Given the description of an element on the screen output the (x, y) to click on. 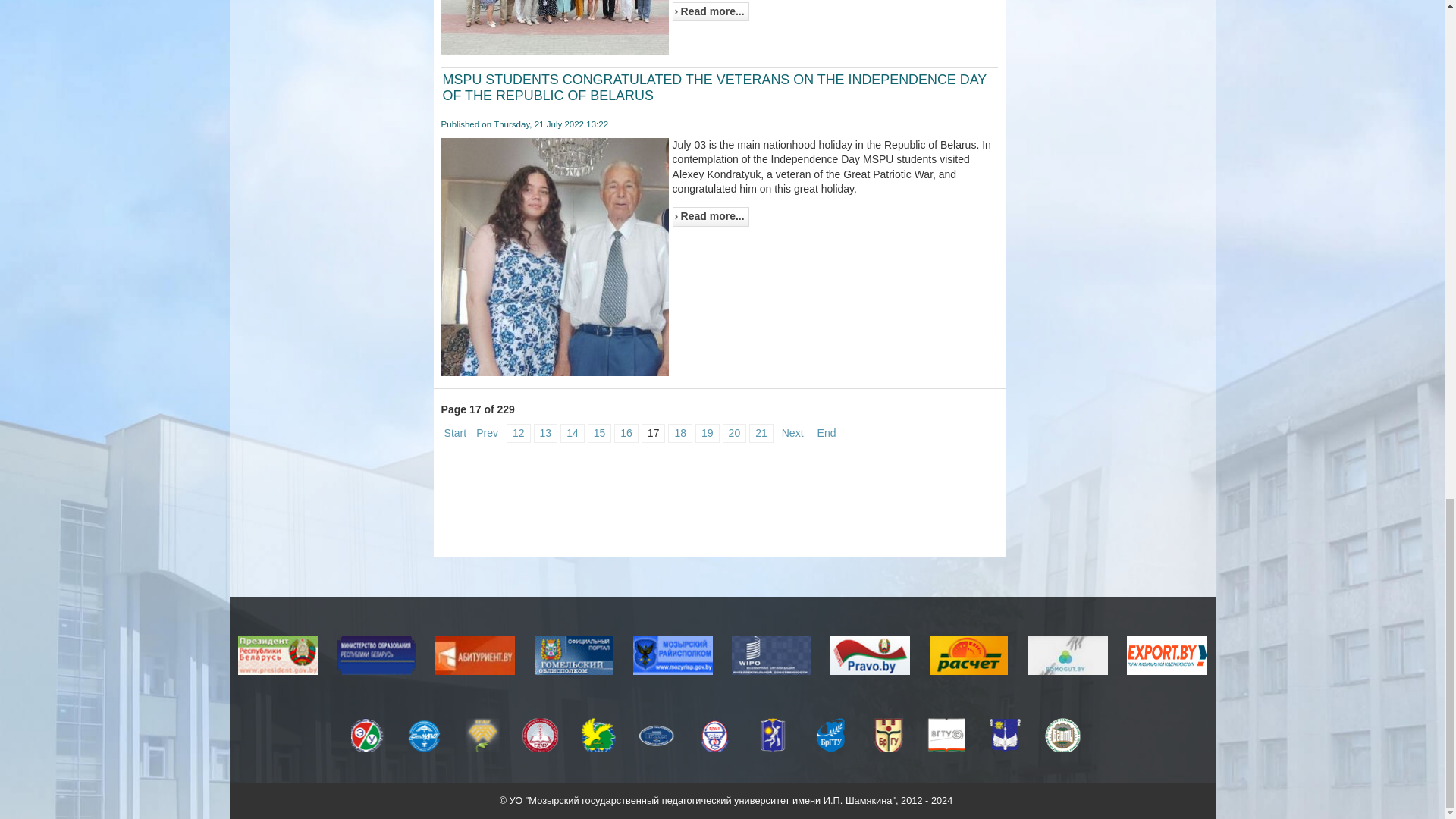
18 (679, 432)
14 (571, 432)
Start (455, 432)
20 (734, 432)
photo (554, 29)
12 (518, 432)
16 (625, 432)
Prev (486, 432)
13 (545, 432)
19 (707, 432)
21 (761, 432)
15 (599, 432)
photo (554, 259)
